Given the description of an element on the screen output the (x, y) to click on. 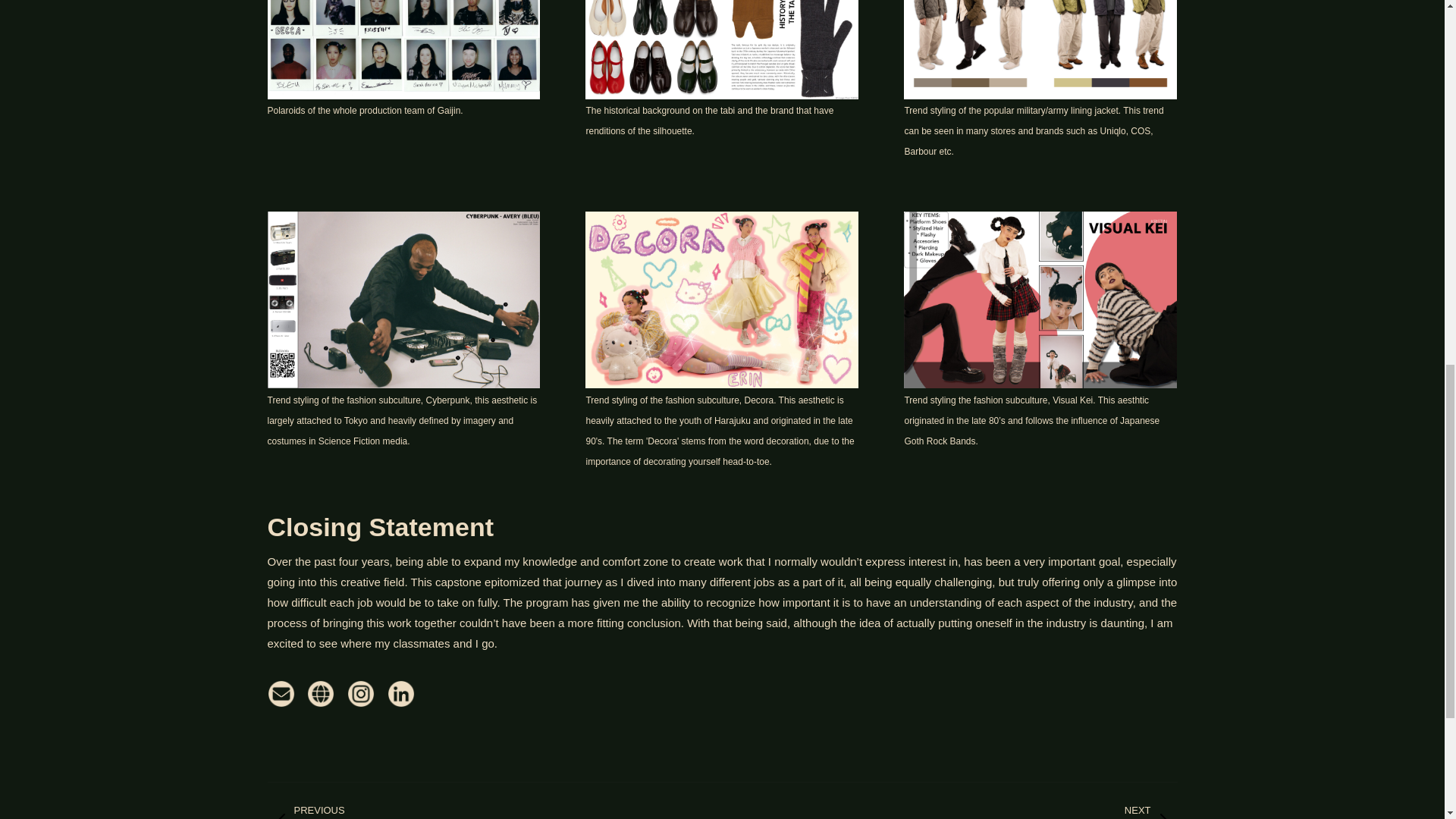
Kaitlyn-Ninaka-King-asset2 - Kaitlyn Ninaka-King (722, 49)
Kaitlyn-Ninaka-King-asset3 - Kaitlyn Ninaka-King (1040, 49)
Kaitlyn-Ninaka-King-asset5 - Kaitlyn Ninaka-King (722, 299)
Kaitlyn-Ninaka-King-asset4 - Kaitlyn Ninaka-King (403, 299)
Kaitlyn-Ninaka-King-asset1 - Kaitlyn Ninaka-King (403, 49)
Kaitlyn-Ninaka-King-asset6 - Kaitlyn Ninaka-King (1040, 299)
